Given the description of an element on the screen output the (x, y) to click on. 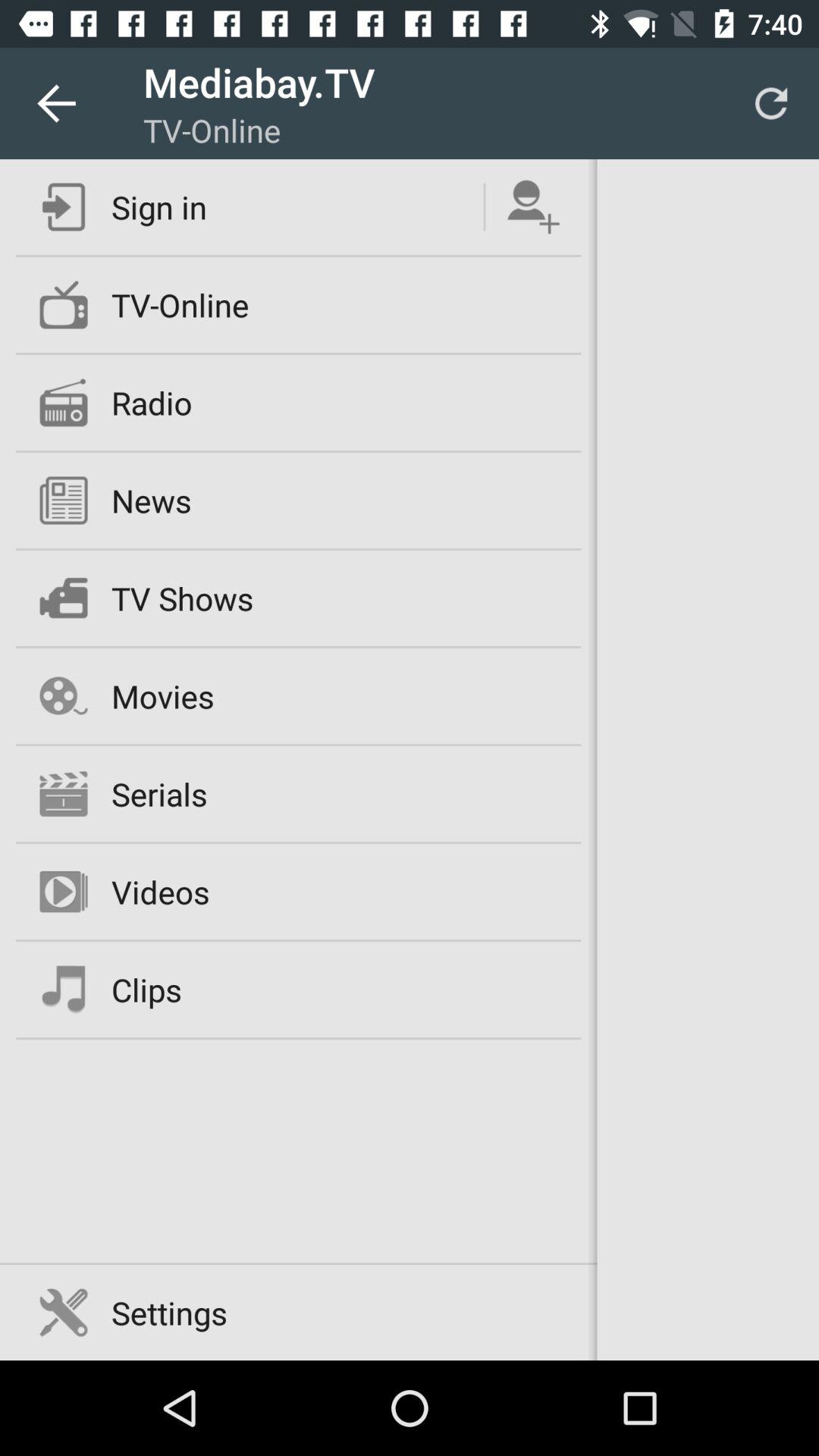
select the news icon (151, 500)
